Given the description of an element on the screen output the (x, y) to click on. 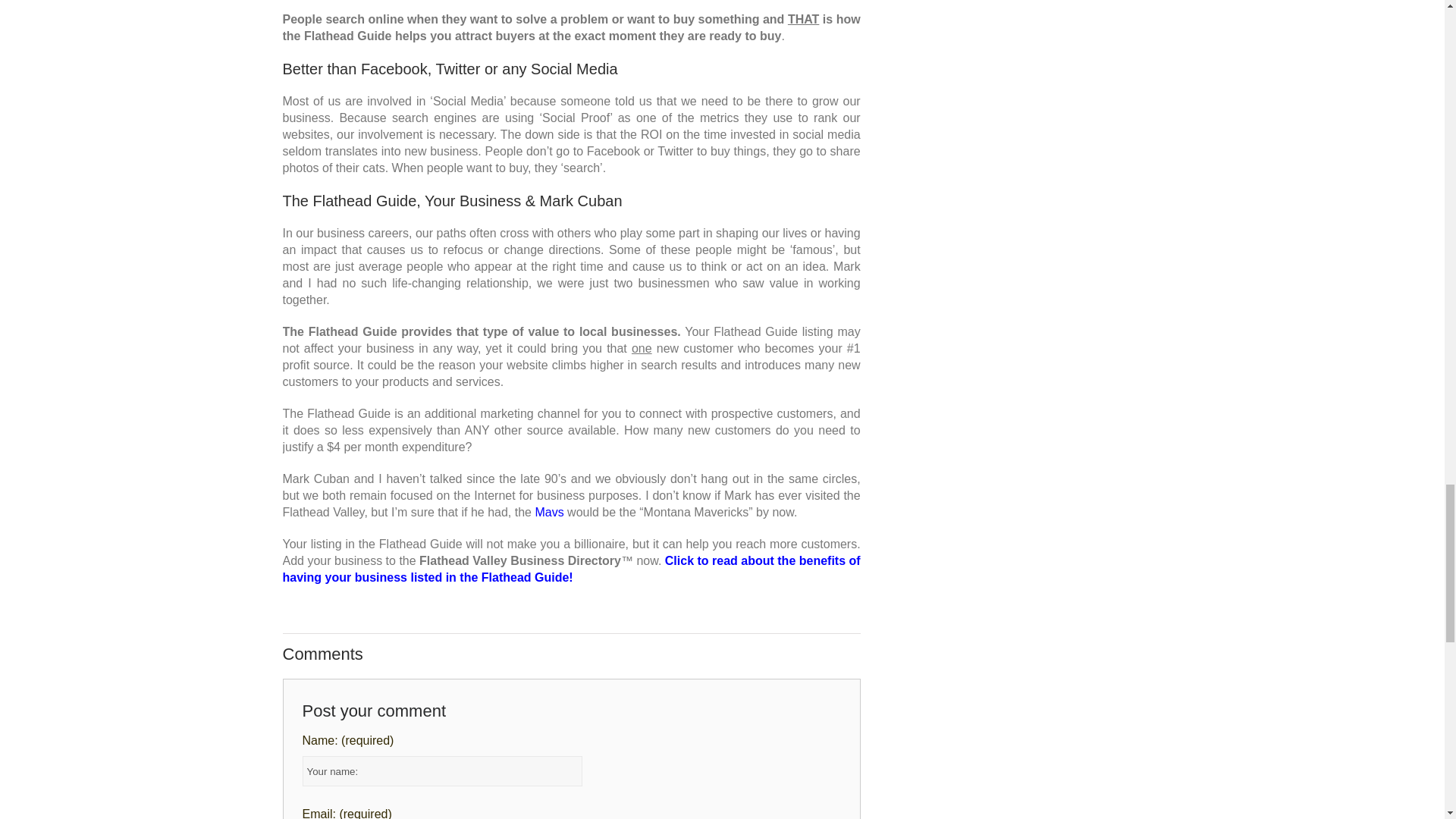
Click here! (571, 568)
Dallas Mavericks (550, 512)
